Given the description of an element on the screen output the (x, y) to click on. 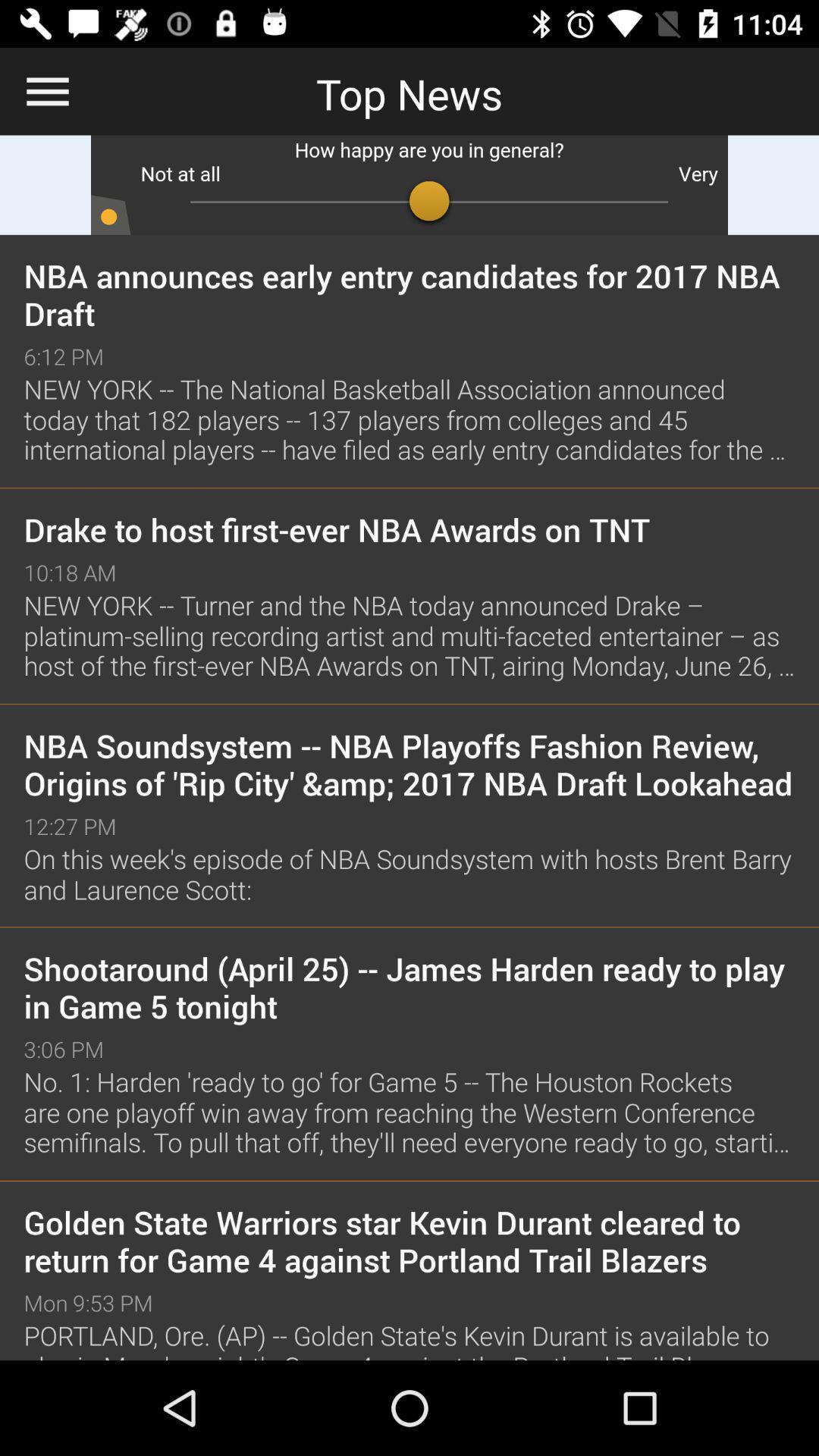
visit advertisement (409, 184)
